Given the description of an element on the screen output the (x, y) to click on. 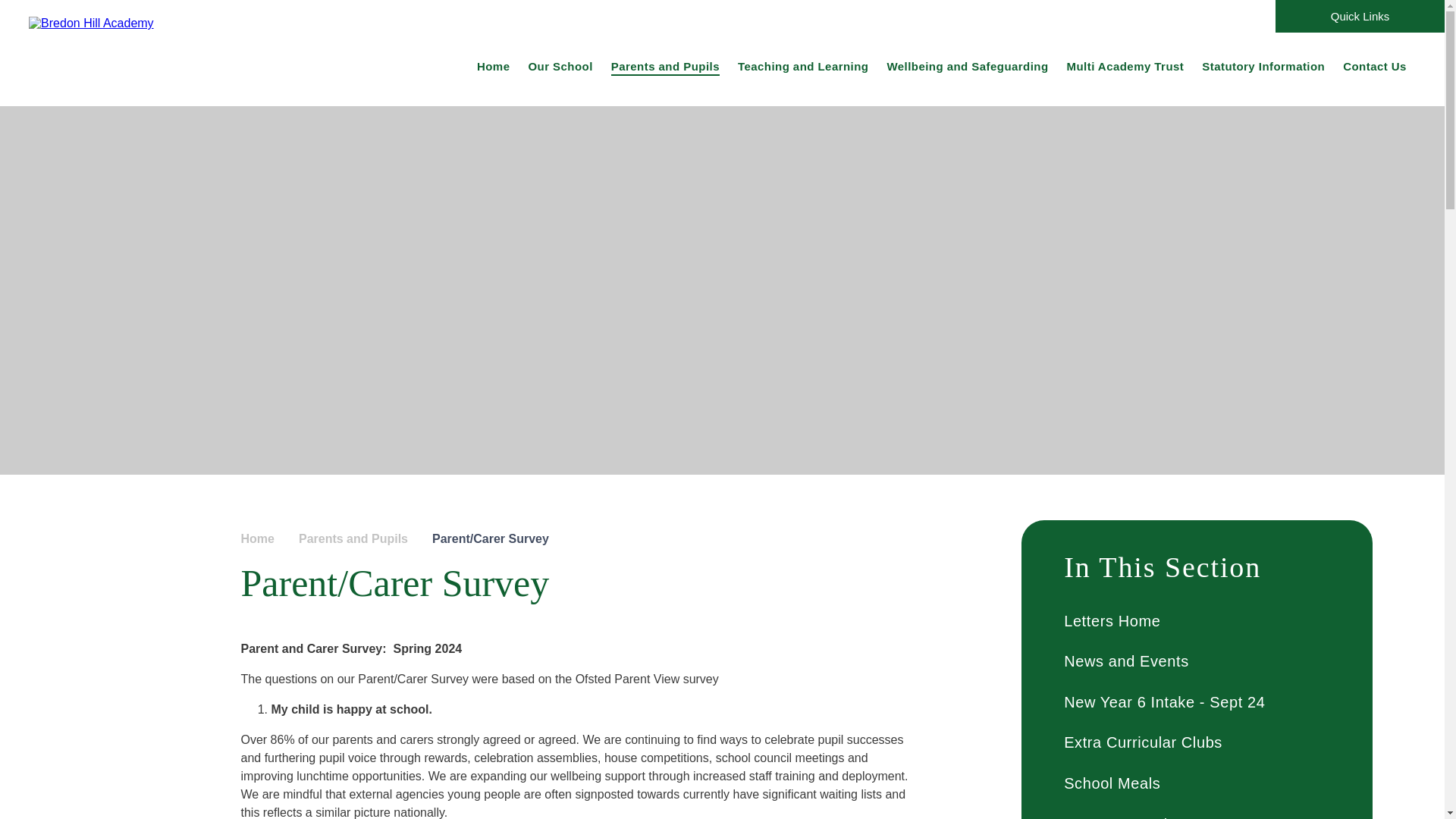
Home (492, 65)
Parents and Pupils (665, 65)
Our School (559, 65)
